Given the description of an element on the screen output the (x, y) to click on. 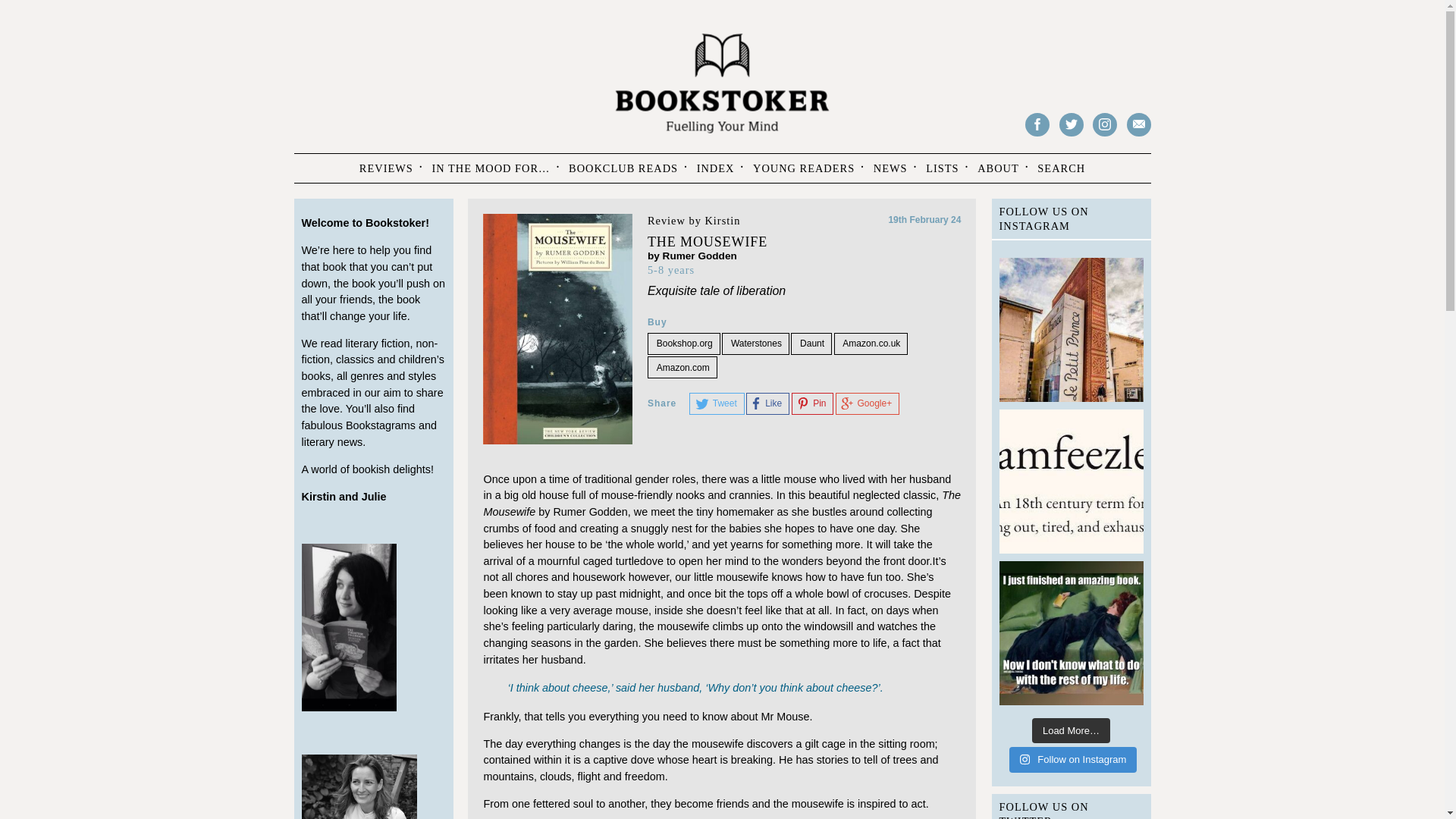
Follow us Instagram (1104, 124)
BOOKCLUB READS (622, 167)
Follow on Facebook (1037, 124)
ABOUT (997, 167)
Menu (324, 165)
NEWS (890, 167)
Follow on Twitter (1071, 124)
Drop us an email (1138, 124)
INDEX (715, 167)
REVIEWS (386, 167)
SEARCH (1061, 167)
YOUNG READERS (803, 167)
LISTS (942, 167)
Posts by Kirstin (721, 220)
